Given the description of an element on the screen output the (x, y) to click on. 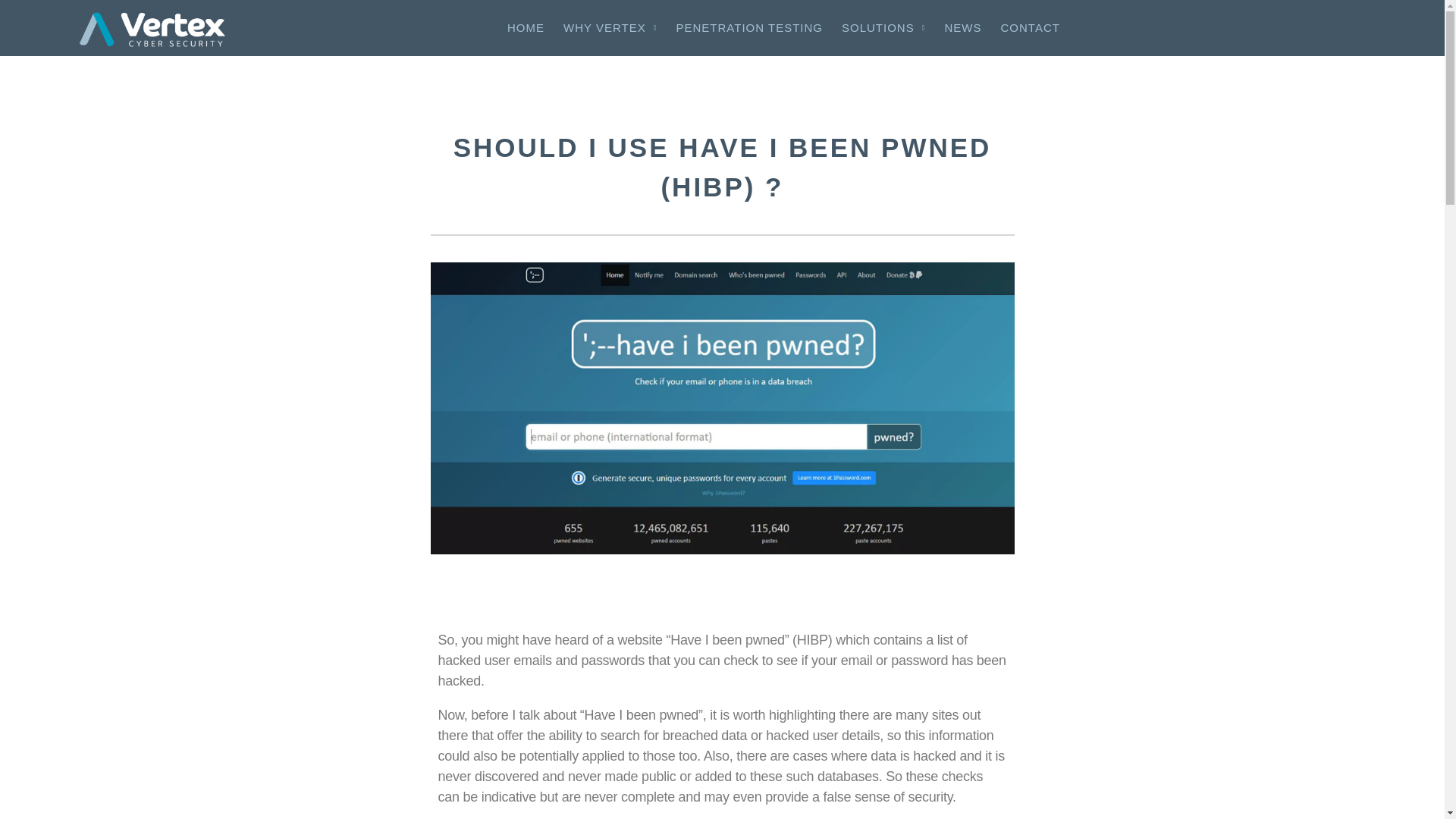
SOLUTIONS (883, 27)
NEWS (963, 27)
WHY VERTEX (609, 27)
CONTACT (1029, 27)
HOME (525, 27)
PENETRATION TESTING (748, 27)
